Given the description of an element on the screen output the (x, y) to click on. 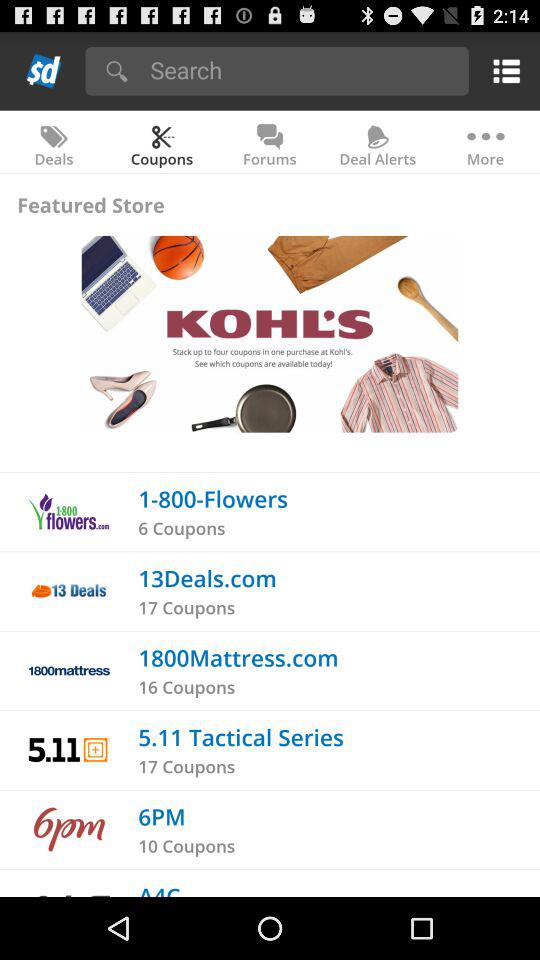
open the item below the 1800mattress.com app (186, 686)
